Given the description of an element on the screen output the (x, y) to click on. 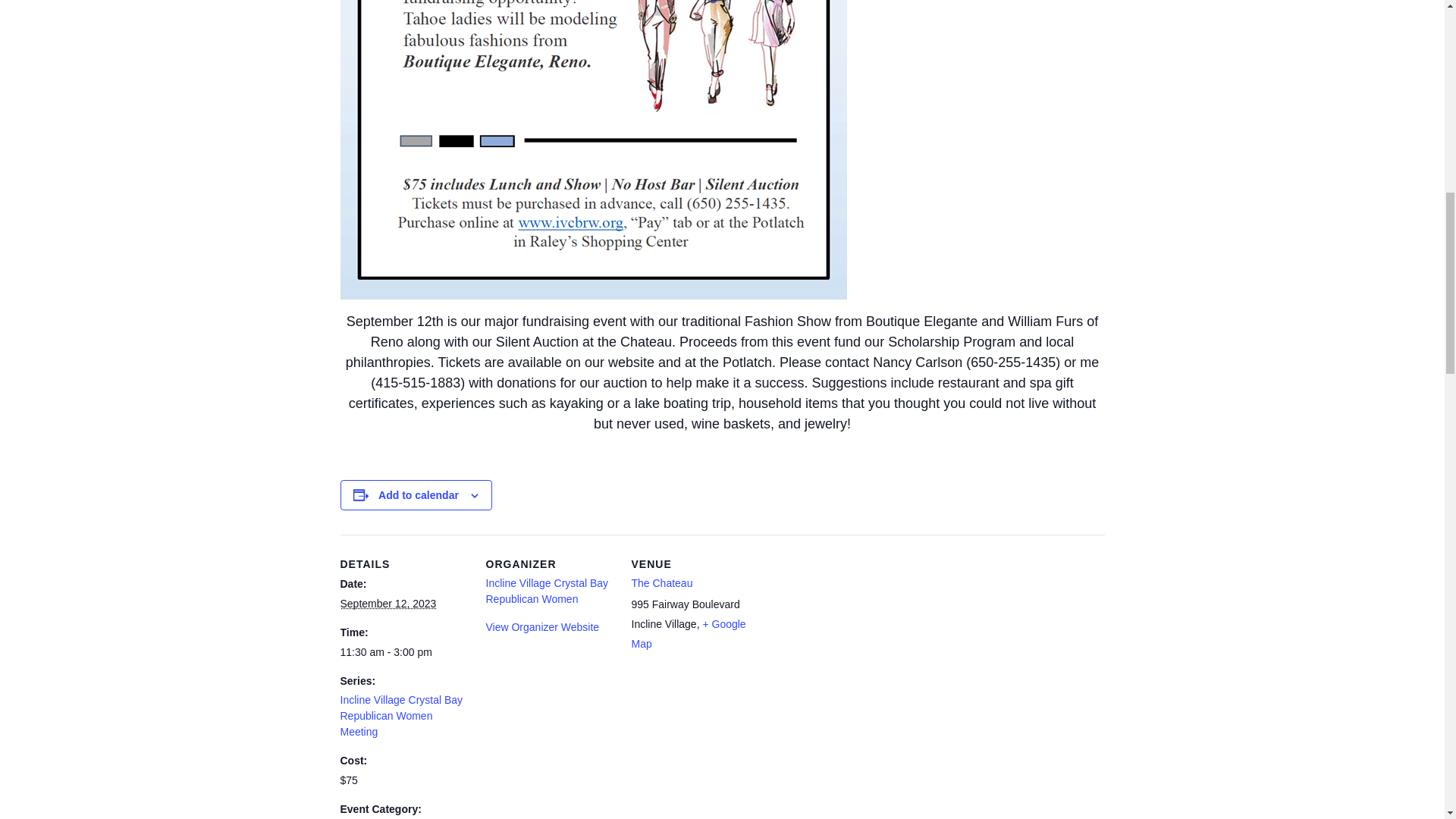
Incline Village Crystal Bay Republican Women (546, 591)
Click to view a Google Map (687, 634)
Incline Village Crystal Bay Republican Women Meeting (401, 715)
2023-09-12 (403, 652)
Page 2 (721, 373)
2023-09-12 (387, 603)
Google maps iframe displaying the address to The Chateau (856, 638)
